Given the description of an element on the screen output the (x, y) to click on. 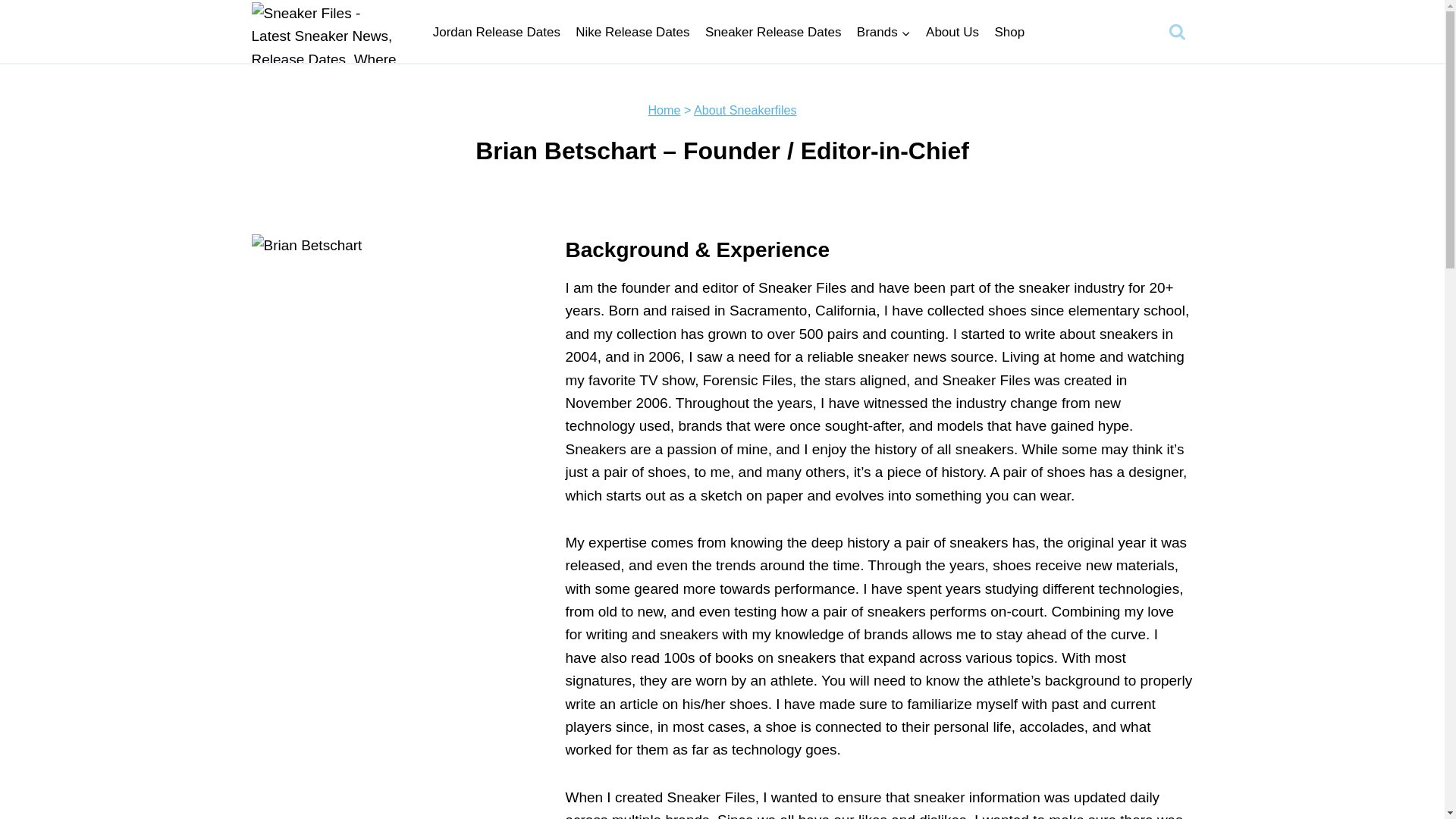
nofollow (1009, 32)
About Us (952, 32)
Shop (1009, 32)
About Sneakerfiles (745, 110)
Nike Release Dates (632, 32)
Sneaker Release Dates (772, 32)
Jordan Release Dates (496, 32)
Home (663, 110)
Brands (883, 32)
